Given the description of an element on the screen output the (x, y) to click on. 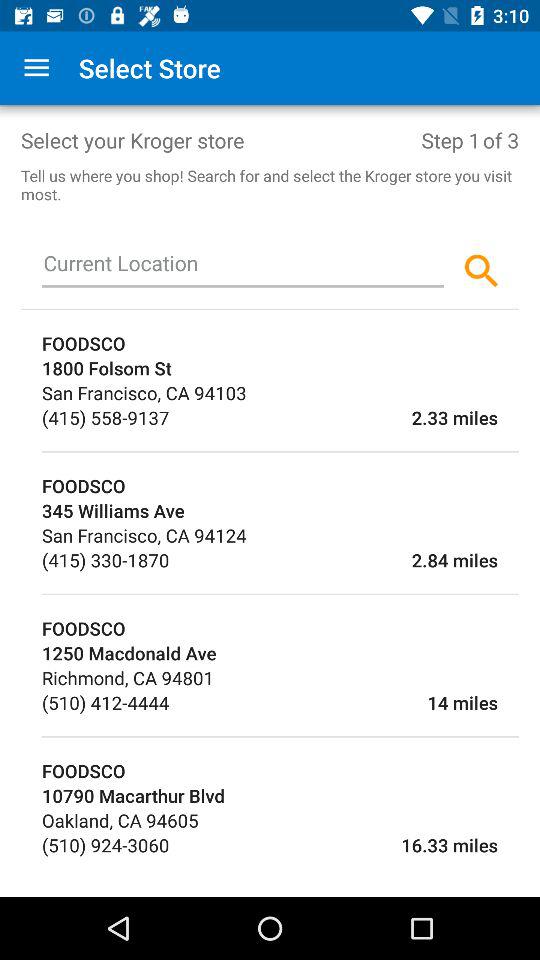
open the 14 miles (333, 702)
